Given the description of an element on the screen output the (x, y) to click on. 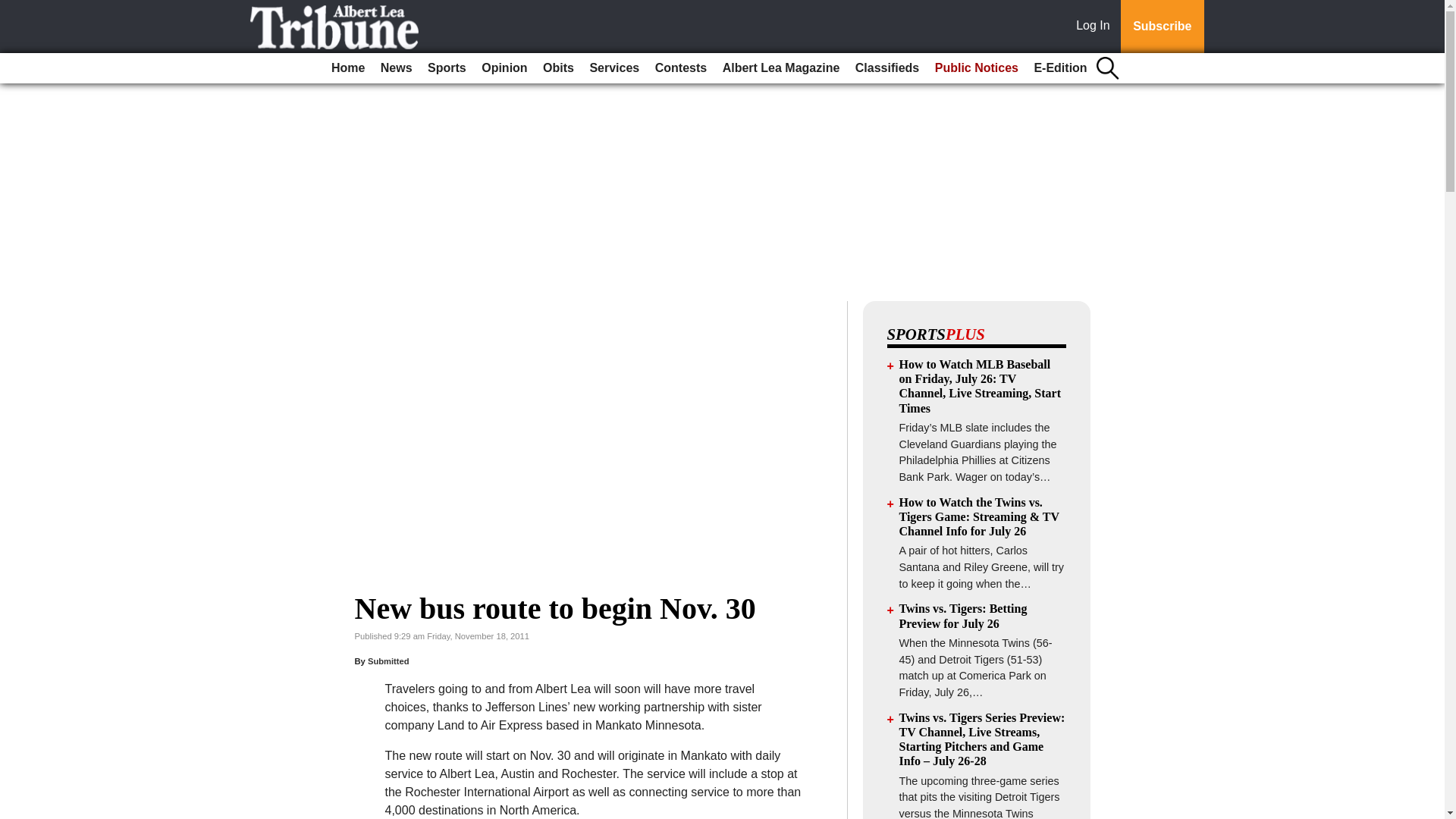
Opinion (504, 68)
Log In (1095, 26)
Home (347, 68)
Services (614, 68)
Sports (446, 68)
News (396, 68)
Obits (558, 68)
Subscribe (1162, 26)
